Given the description of an element on the screen output the (x, y) to click on. 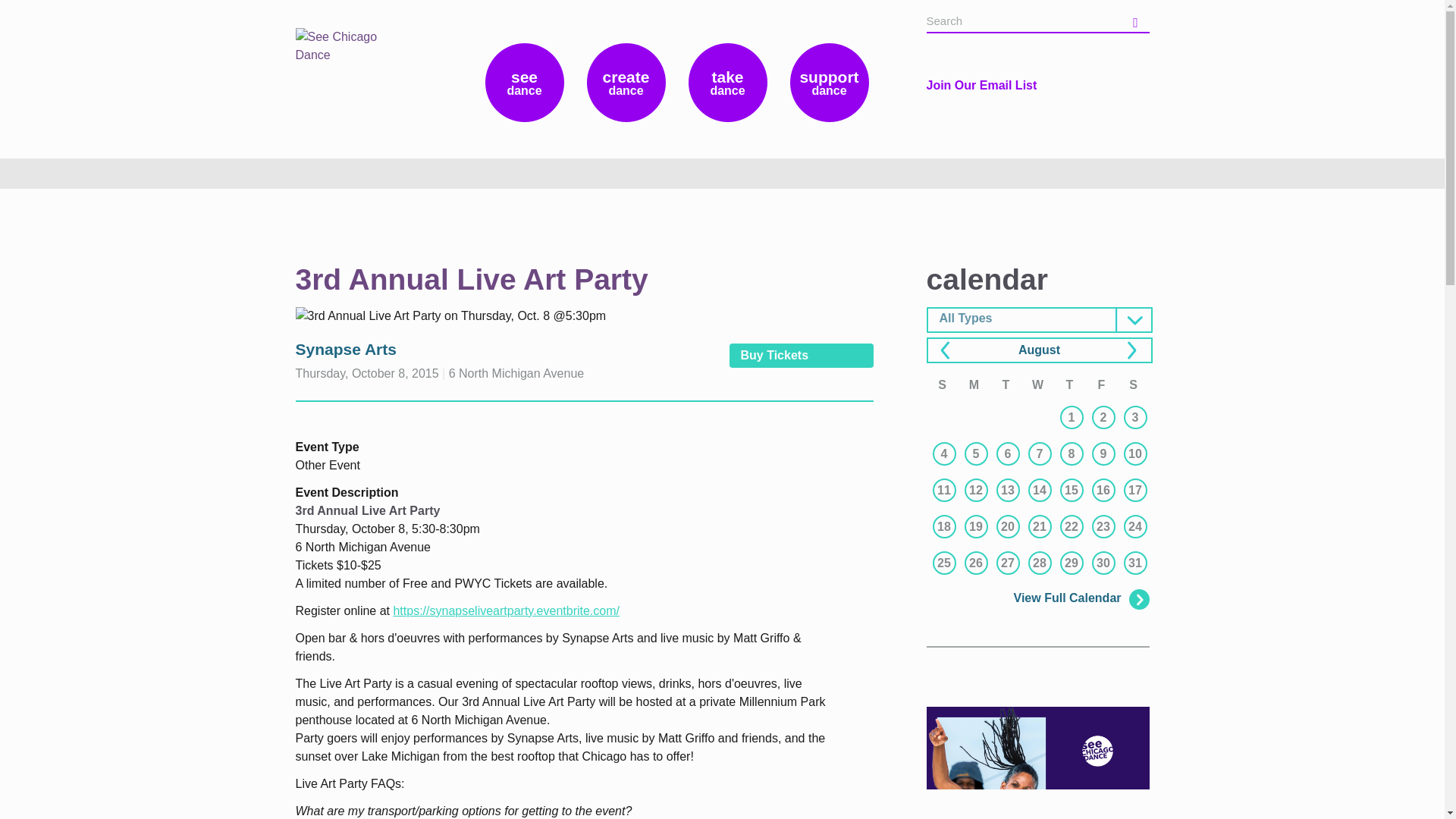
Search (1136, 20)
Chicago Dance Month. Let Chicago Move You! Learn more. (1038, 762)
See Chicago Dance: Home (348, 67)
Join Our Email List (981, 84)
support (829, 82)
View full page month (1038, 349)
take (727, 82)
Navigate to previous month (949, 352)
Enter the terms you wish to search for. (1022, 21)
